Given the description of an element on the screen output the (x, y) to click on. 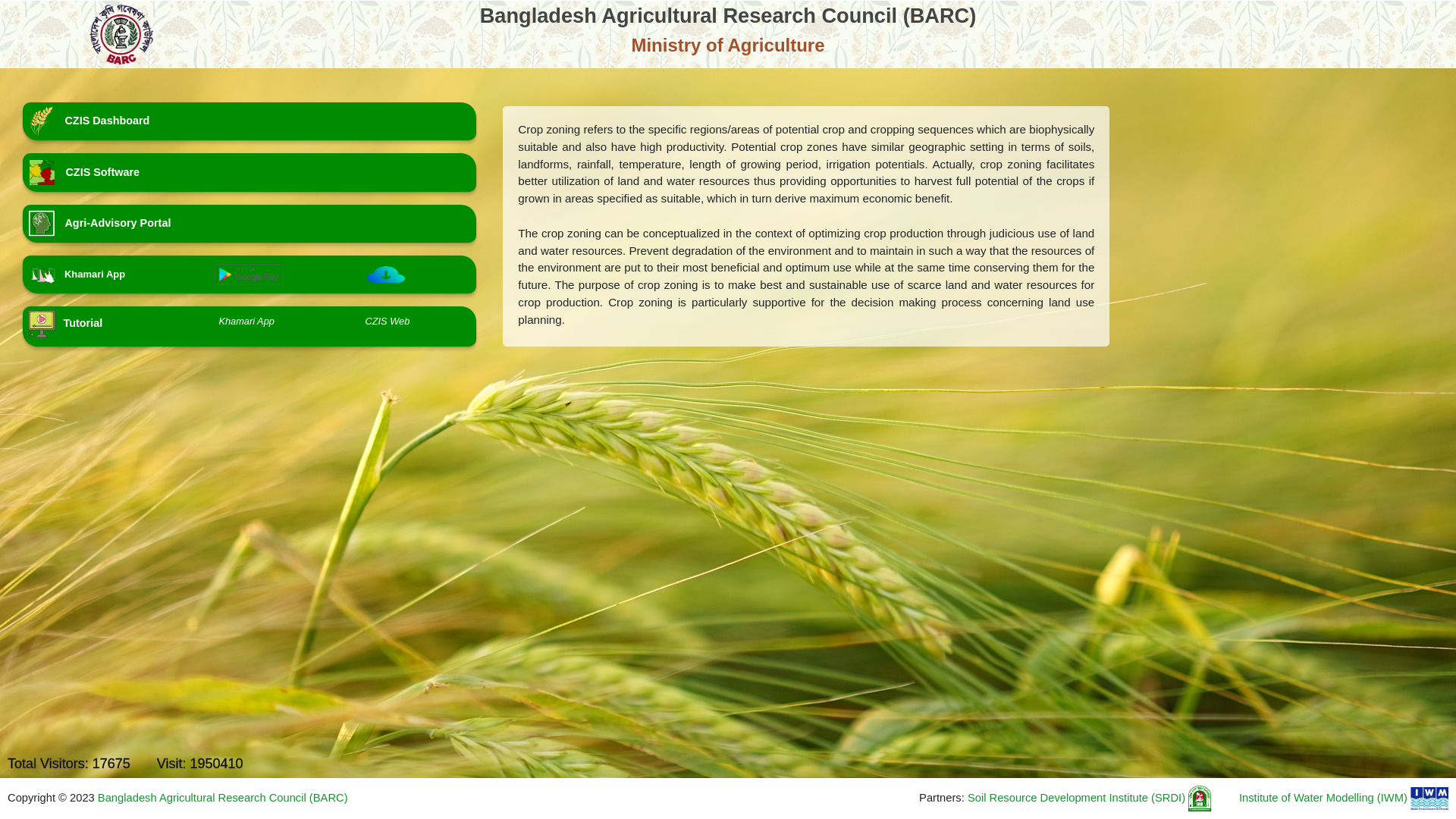
Agri-Advisory Portal Element type: text (249, 223)
CZIS Web Element type: text (386, 320)
Google Play Store Download Element type: hover (248, 272)
Khamari App Element type: text (246, 320)
Cloud Download Element type: hover (385, 272)
Soil Resource Development Institute (SRDI) Element type: text (1090, 797)
Bangladesh Agricultural Research Council (BARC) Element type: text (222, 797)
CZIS Dashboard Element type: text (249, 121)
Institute of Water Modelling (IWM) Element type: text (1343, 797)
CZIS Software Element type: text (249, 172)
